Given the description of an element on the screen output the (x, y) to click on. 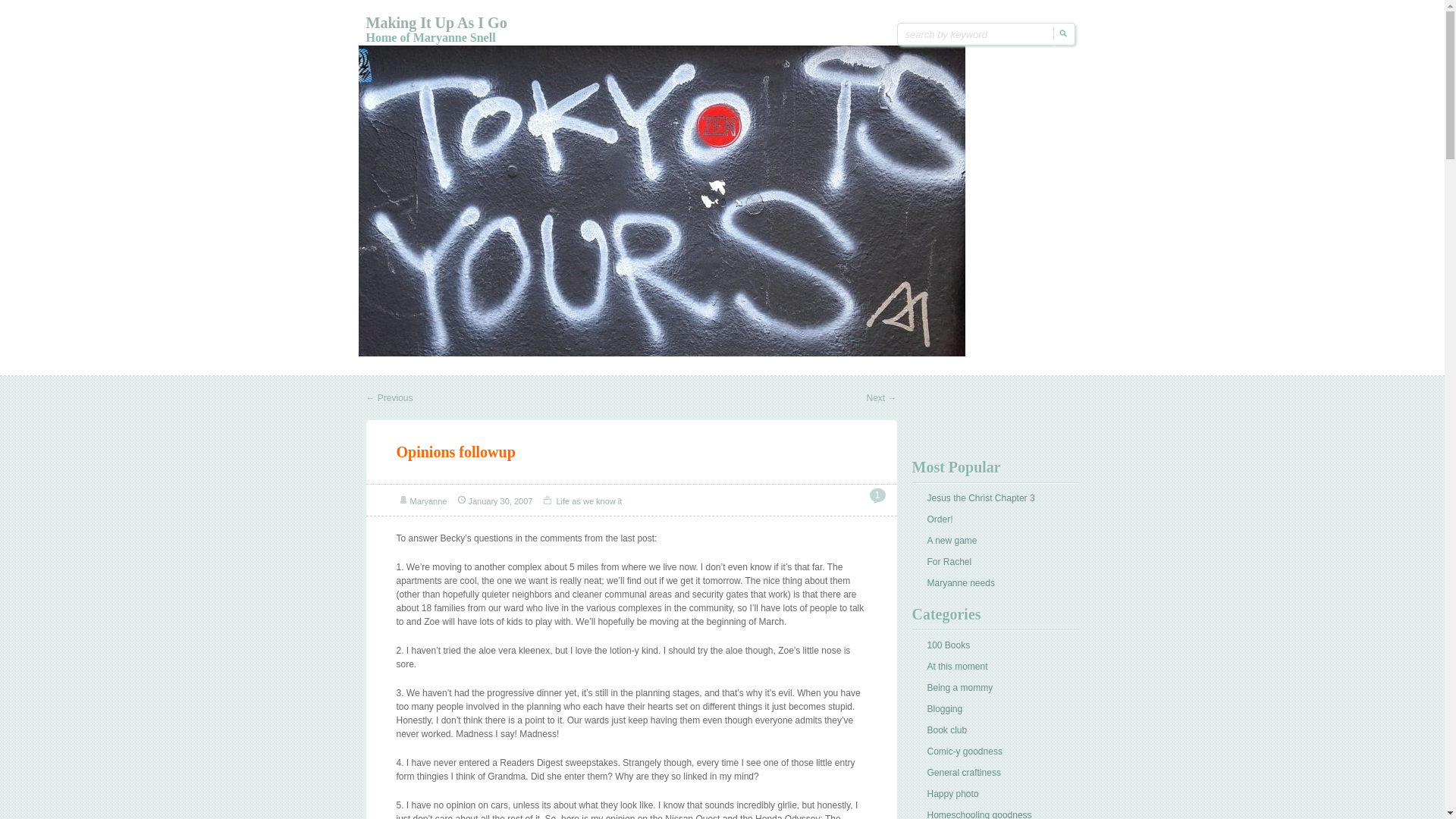
Happy photo (952, 793)
10:48 am (499, 501)
General craftiness (963, 772)
Order! (939, 519)
100 Books (947, 644)
A new game (951, 540)
For Rachel (948, 561)
Maryanne needs (960, 583)
A new game (951, 540)
Being a mommy (959, 687)
For Rachel (948, 561)
Blogging (944, 708)
At this moment (956, 665)
Order! (939, 519)
Making it Up As I Go (435, 22)
